Given the description of an element on the screen output the (x, y) to click on. 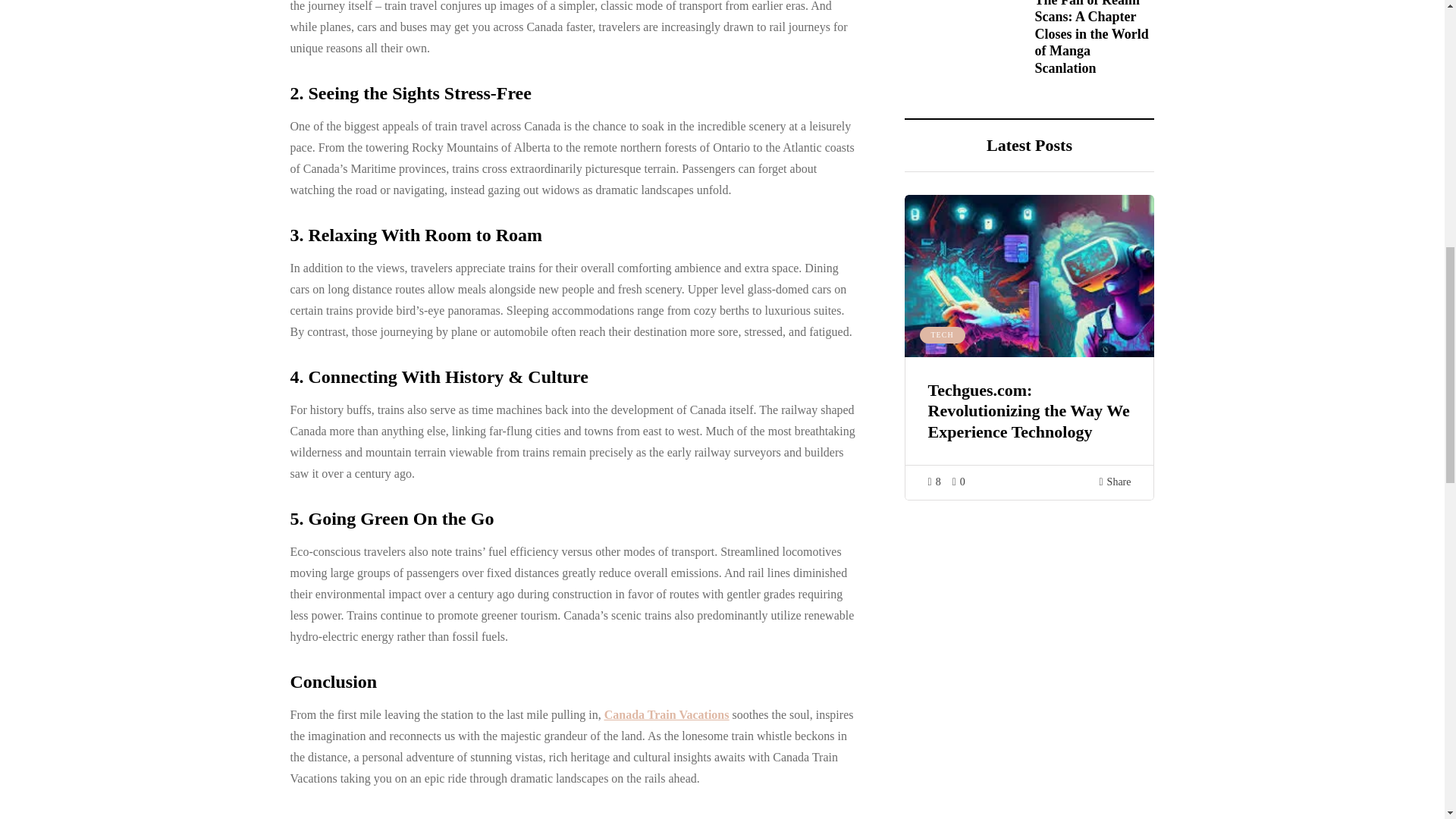
Canada Train Vacations (666, 714)
